Given the description of an element on the screen output the (x, y) to click on. 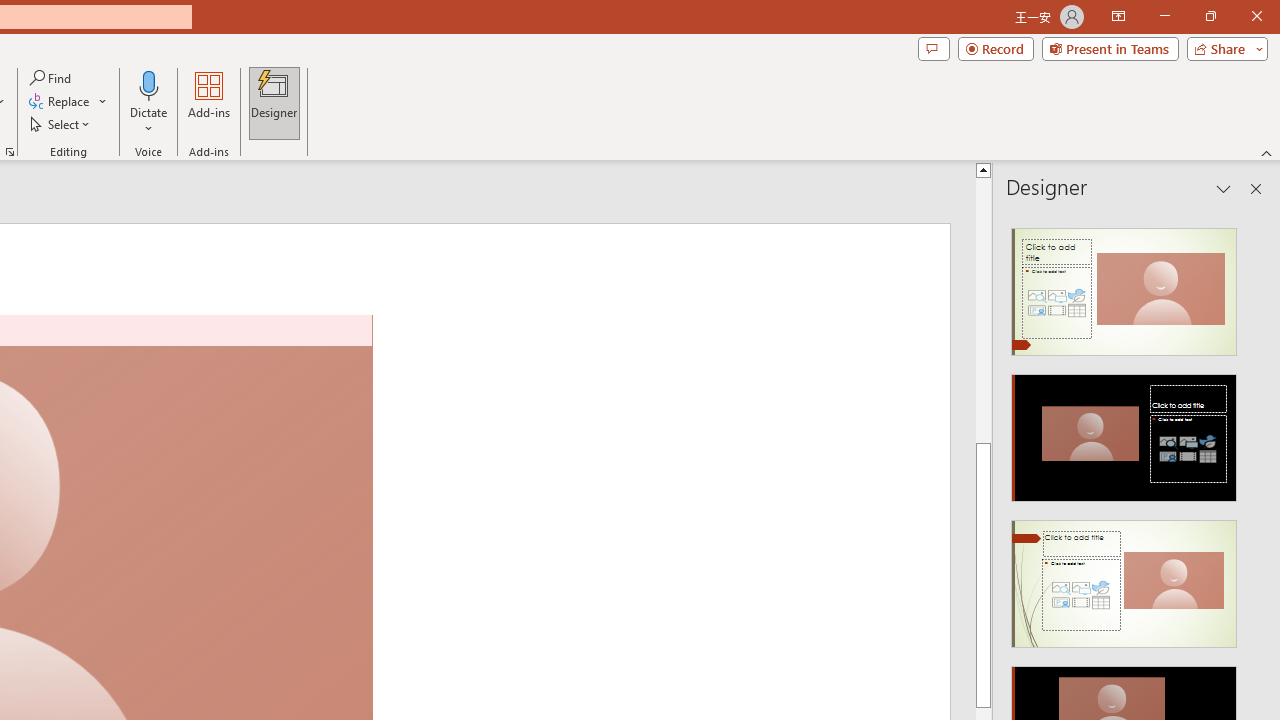
Designer (274, 102)
Format Object... (9, 151)
Recommended Design: Design Idea (1124, 286)
Class: NetUIImage (1124, 584)
Task Pane Options (1224, 188)
Close (1256, 16)
Dictate (149, 84)
Share (1223, 48)
Dictate (149, 102)
Collapse the Ribbon (1267, 152)
Find... (51, 78)
Ribbon Display Options (1118, 16)
